Given the description of an element on the screen output the (x, y) to click on. 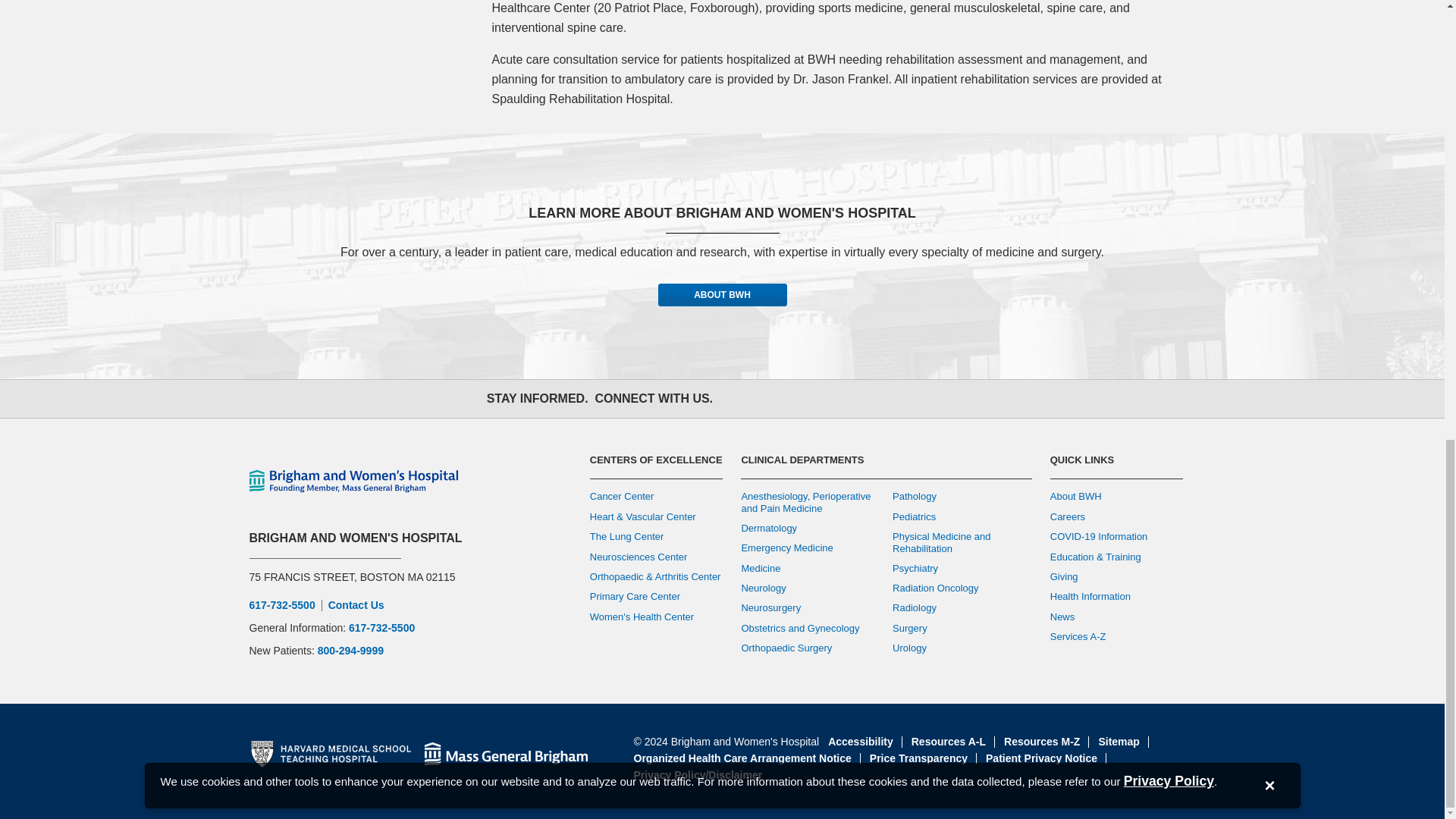
YouTube (838, 398)
Newsroom (905, 398)
Facebook (738, 398)
ABOUT BWH (722, 294)
Instagram (804, 398)
LinkedIn (871, 398)
Instagram (804, 398)
Facebook (738, 398)
YouTube (838, 398)
